Given the description of an element on the screen output the (x, y) to click on. 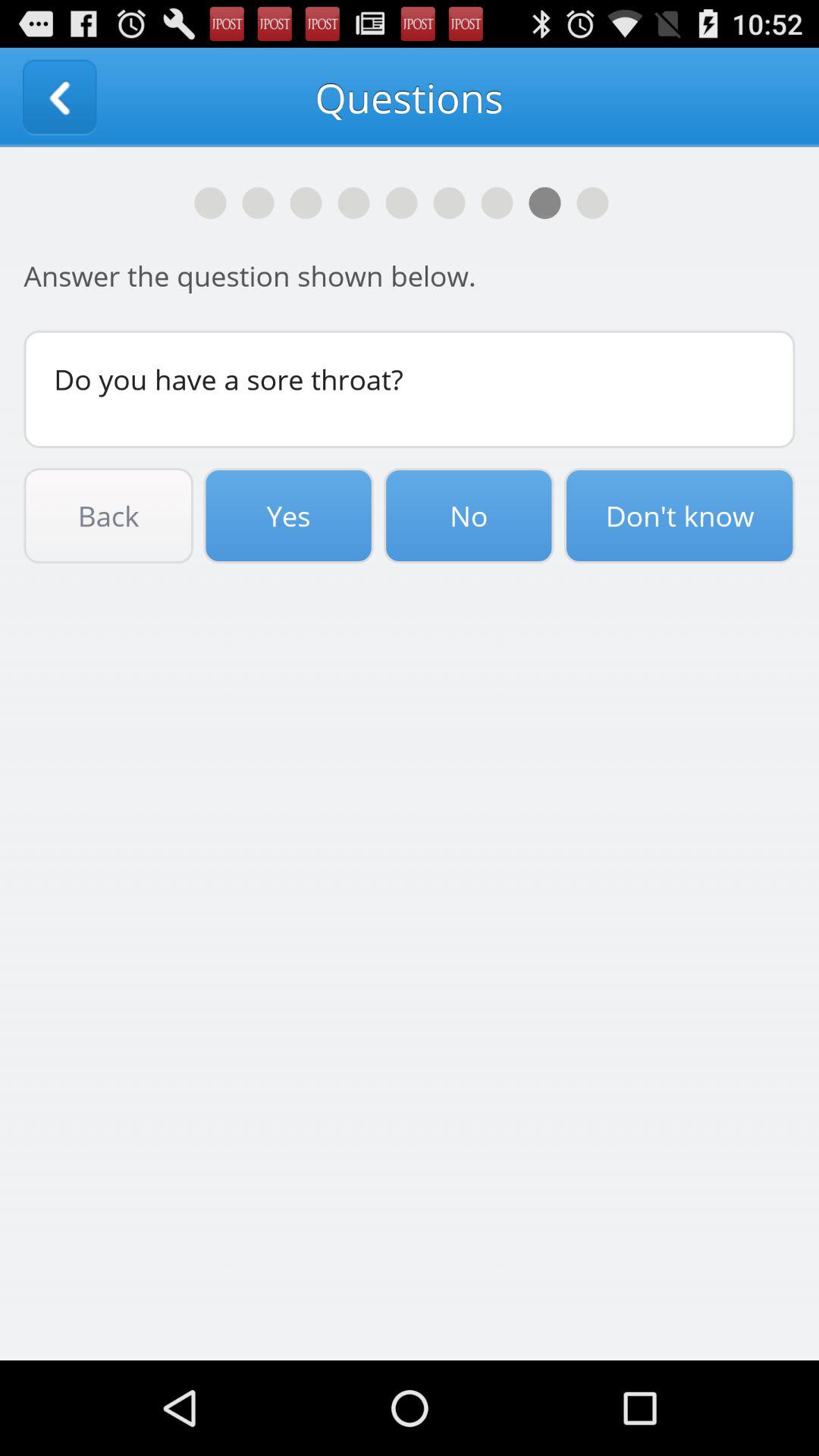
back button (59, 97)
